Given the description of an element on the screen output the (x, y) to click on. 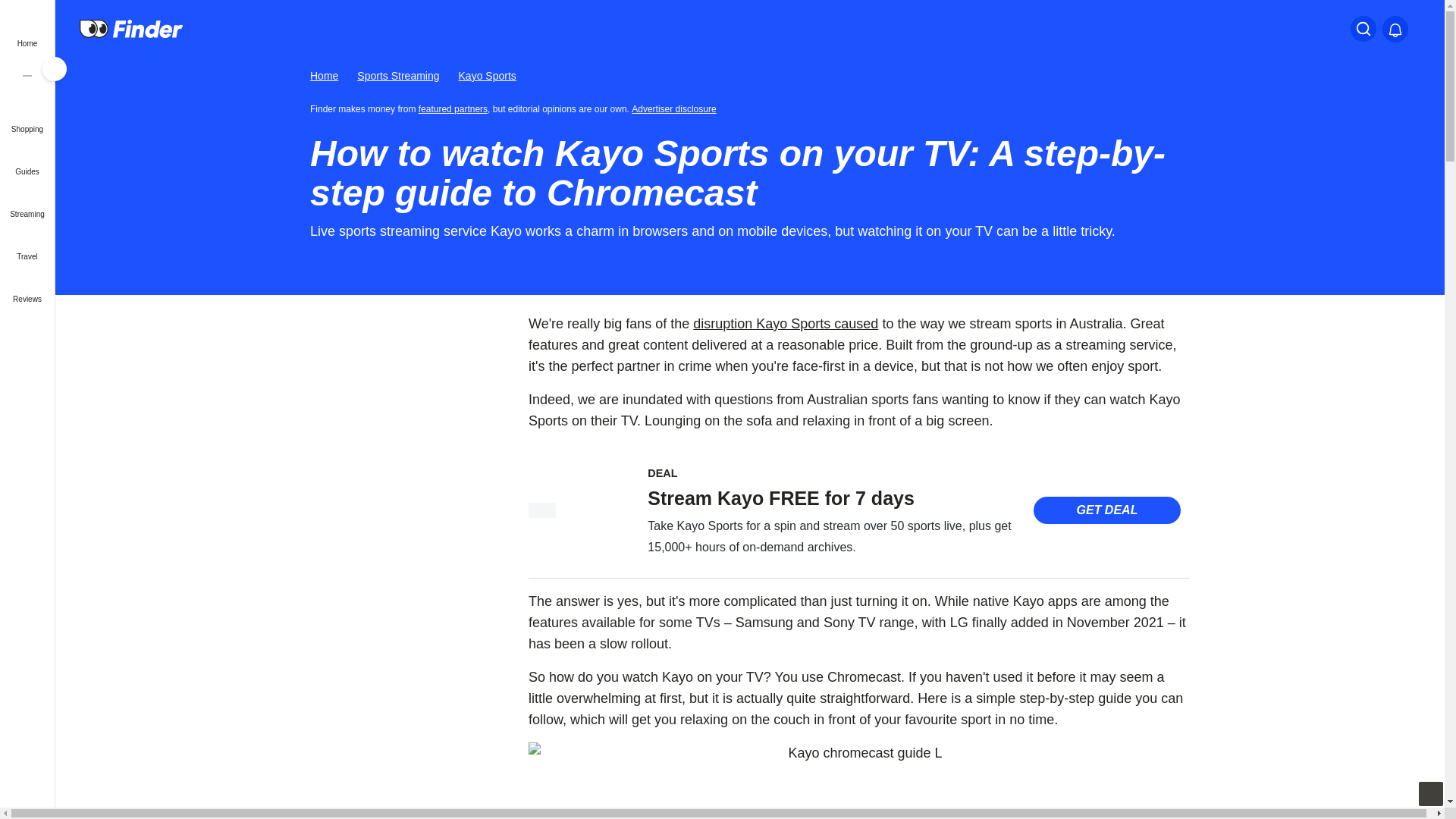
Important information about this website (676, 108)
Kayo Sports (542, 509)
Home (323, 75)
Kayo Sports (487, 75)
Sports Streaming (397, 75)
Back to Top (1430, 793)
